Given the description of an element on the screen output the (x, y) to click on. 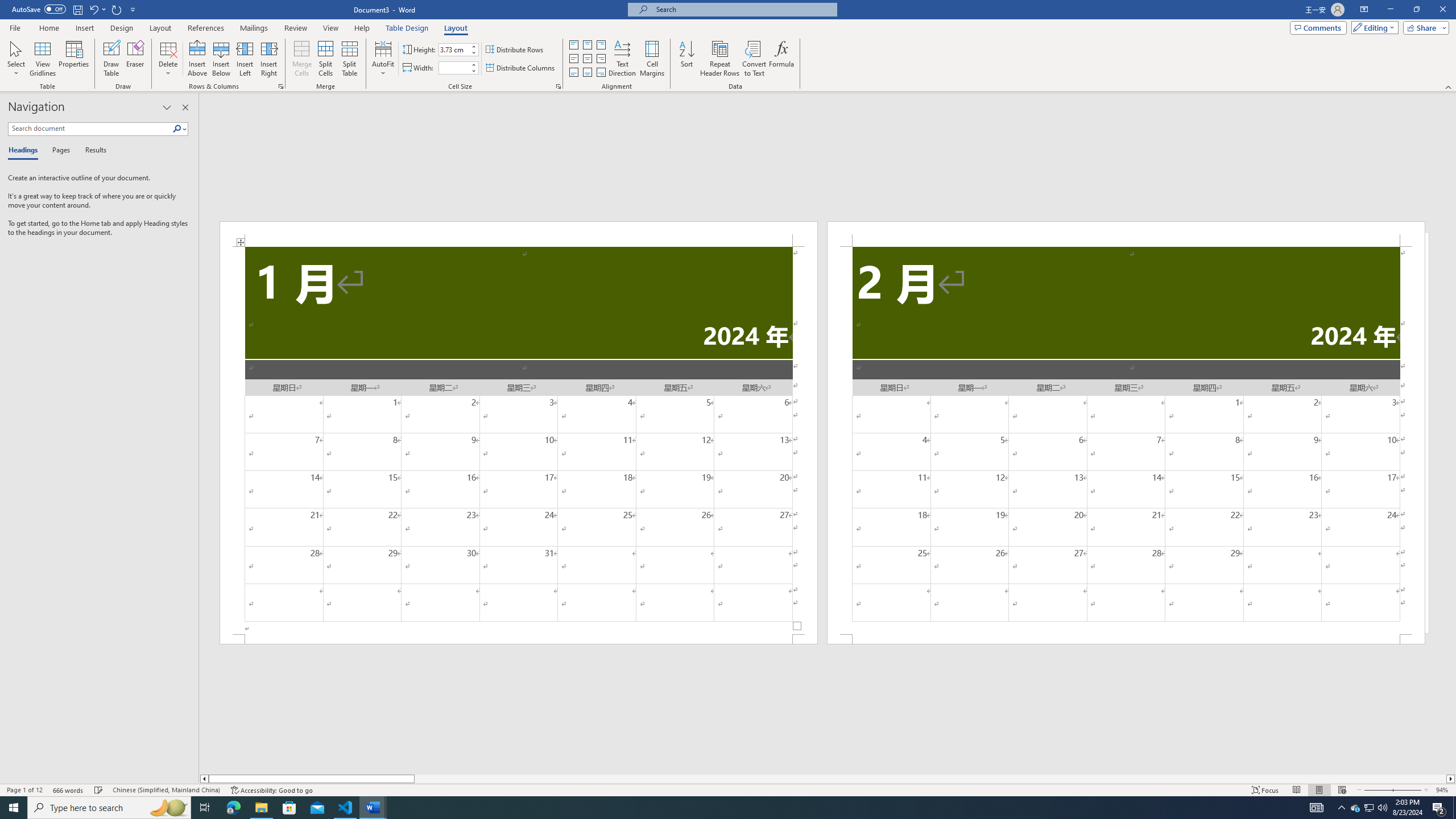
More (473, 64)
Insert Left (244, 58)
Cell Margins... (652, 58)
Undo Increase Indent (96, 9)
